Given the description of an element on the screen output the (x, y) to click on. 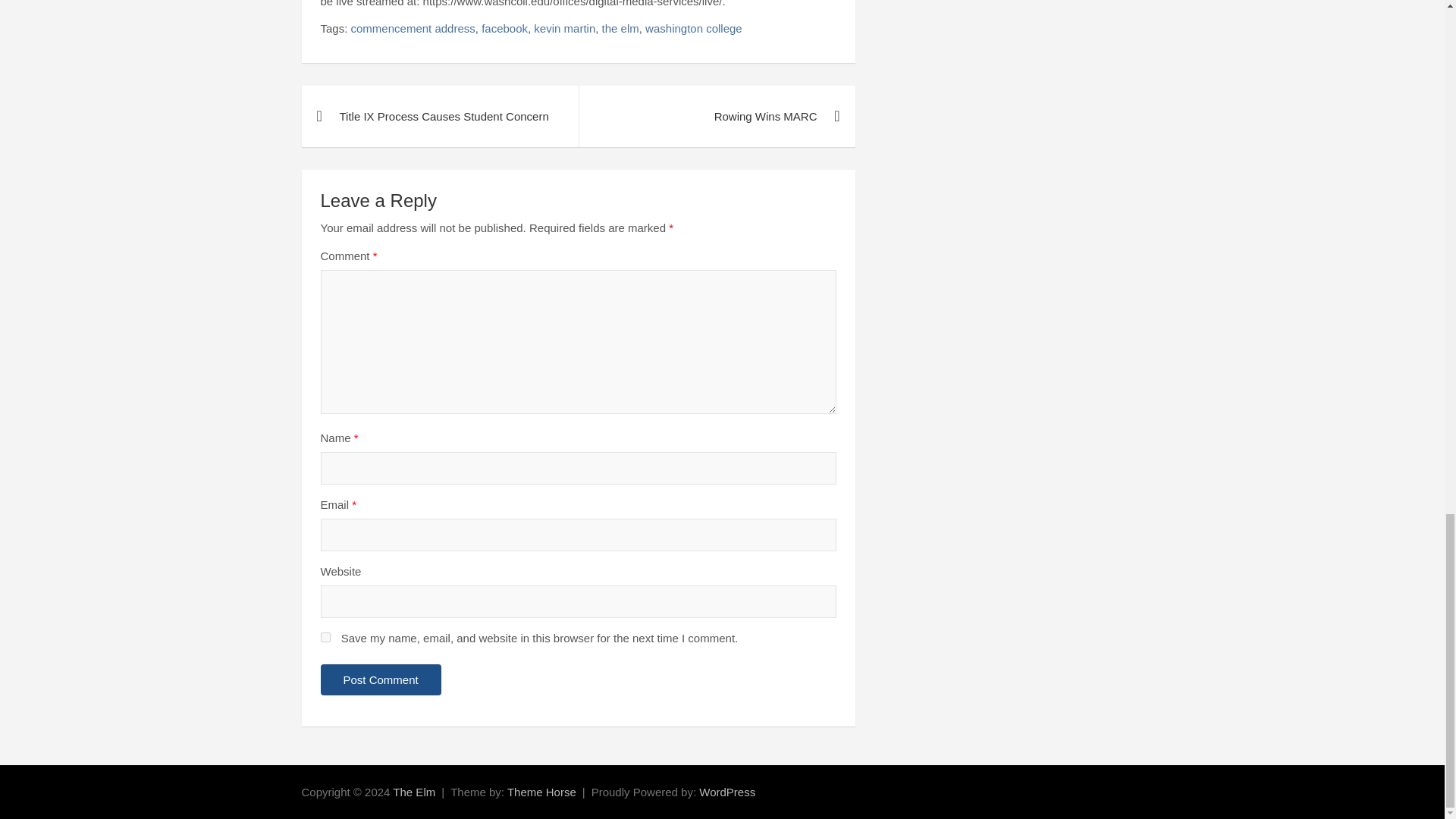
yes (325, 637)
Theme Horse (541, 791)
commencement address (413, 28)
washington college (693, 28)
facebook (504, 28)
kevin martin (564, 28)
WordPress (726, 791)
Title IX Process Causes Student Concern (439, 116)
The Elm (414, 791)
Post Comment (380, 679)
Post Comment (380, 679)
the elm (620, 28)
Rowing Wins MARC (716, 116)
